Given the description of an element on the screen output the (x, y) to click on. 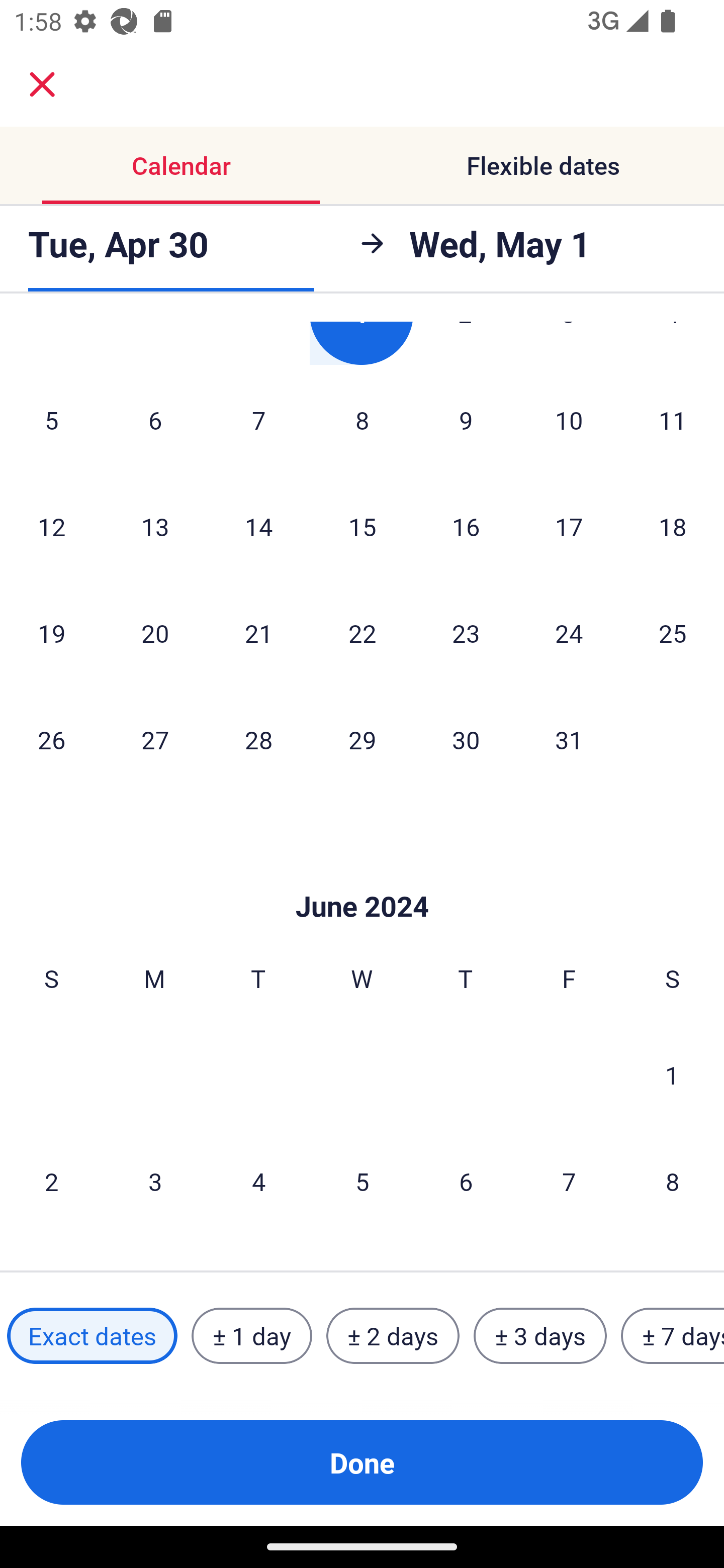
close. (42, 84)
Flexible dates (542, 164)
5 Sunday, May 5, 2024 (51, 419)
6 Monday, May 6, 2024 (155, 419)
7 Tuesday, May 7, 2024 (258, 419)
8 Wednesday, May 8, 2024 (362, 419)
9 Thursday, May 9, 2024 (465, 419)
10 Friday, May 10, 2024 (569, 419)
11 Saturday, May 11, 2024 (672, 419)
12 Sunday, May 12, 2024 (51, 526)
13 Monday, May 13, 2024 (155, 526)
14 Tuesday, May 14, 2024 (258, 526)
15 Wednesday, May 15, 2024 (362, 526)
16 Thursday, May 16, 2024 (465, 526)
17 Friday, May 17, 2024 (569, 526)
18 Saturday, May 18, 2024 (672, 526)
19 Sunday, May 19, 2024 (51, 633)
20 Monday, May 20, 2024 (155, 633)
21 Tuesday, May 21, 2024 (258, 633)
22 Wednesday, May 22, 2024 (362, 633)
23 Thursday, May 23, 2024 (465, 633)
24 Friday, May 24, 2024 (569, 633)
25 Saturday, May 25, 2024 (672, 633)
26 Sunday, May 26, 2024 (51, 739)
27 Monday, May 27, 2024 (155, 739)
28 Tuesday, May 28, 2024 (258, 739)
29 Wednesday, May 29, 2024 (362, 739)
30 Thursday, May 30, 2024 (465, 739)
31 Friday, May 31, 2024 (569, 739)
Skip to Done (362, 876)
1 Saturday, June 1, 2024 (672, 1074)
2 Sunday, June 2, 2024 (51, 1181)
3 Monday, June 3, 2024 (155, 1181)
4 Tuesday, June 4, 2024 (258, 1181)
5 Wednesday, June 5, 2024 (362, 1181)
6 Thursday, June 6, 2024 (465, 1181)
7 Friday, June 7, 2024 (569, 1181)
8 Saturday, June 8, 2024 (672, 1181)
Exact dates (92, 1335)
± 1 day (251, 1335)
± 2 days (392, 1335)
± 3 days (539, 1335)
± 7 days (672, 1335)
Done (361, 1462)
